Given the description of an element on the screen output the (x, y) to click on. 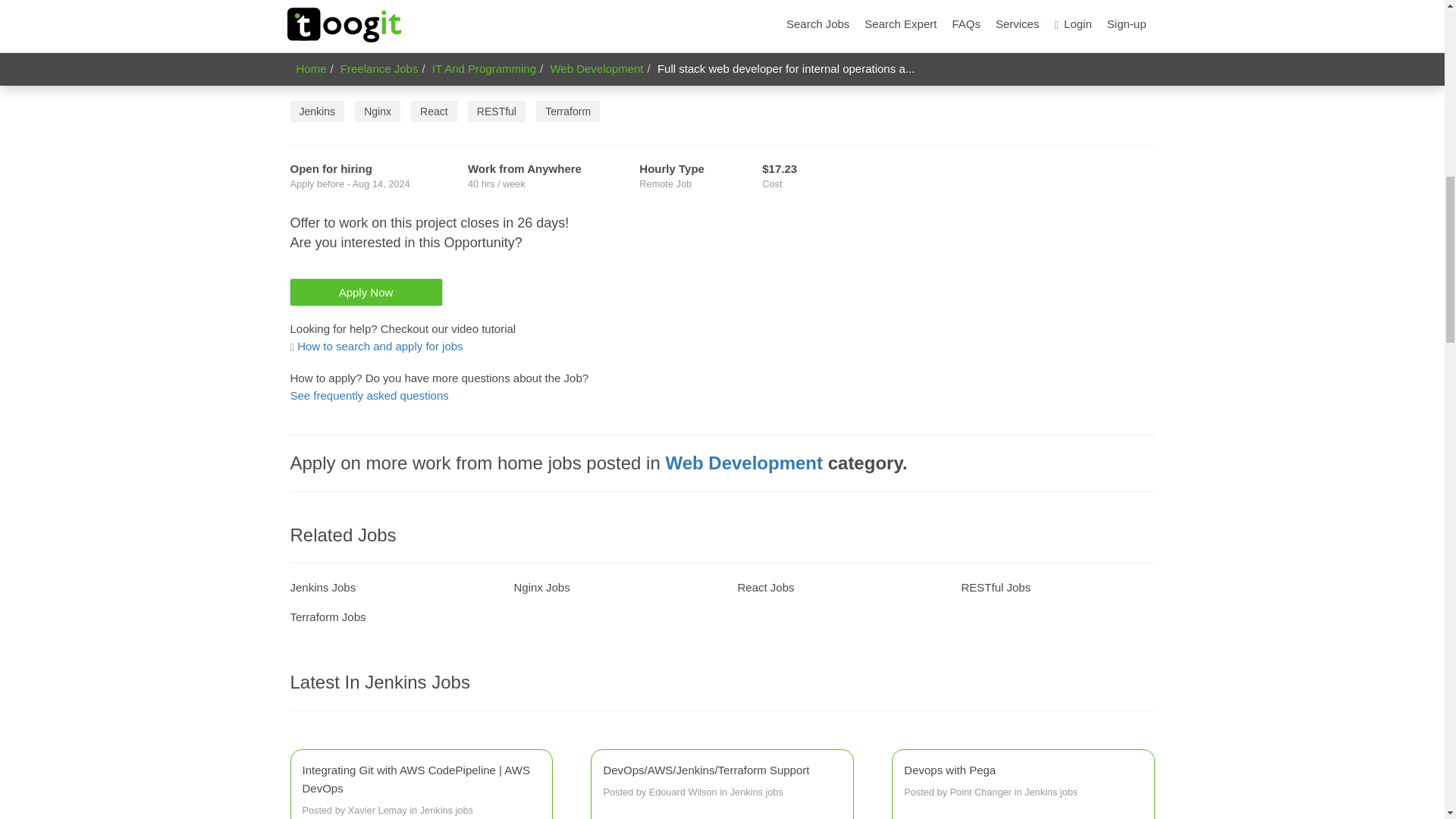
Search RESTful Jobs (995, 586)
Frequently asked questions (368, 395)
Search Nginx Jobs (541, 586)
See frequently asked questions (368, 395)
Search React Jobs (764, 586)
How to search and apply for jobs (376, 345)
Nginx (377, 111)
In Jenkins: Devops with Pega (1022, 781)
RESTful Jobs (995, 586)
Web Development (743, 462)
React Jobs (764, 586)
Search Jenkins Jobs (322, 586)
How to search and apply for jobs (1022, 781)
Jenkins Jobs (376, 345)
